Given the description of an element on the screen output the (x, y) to click on. 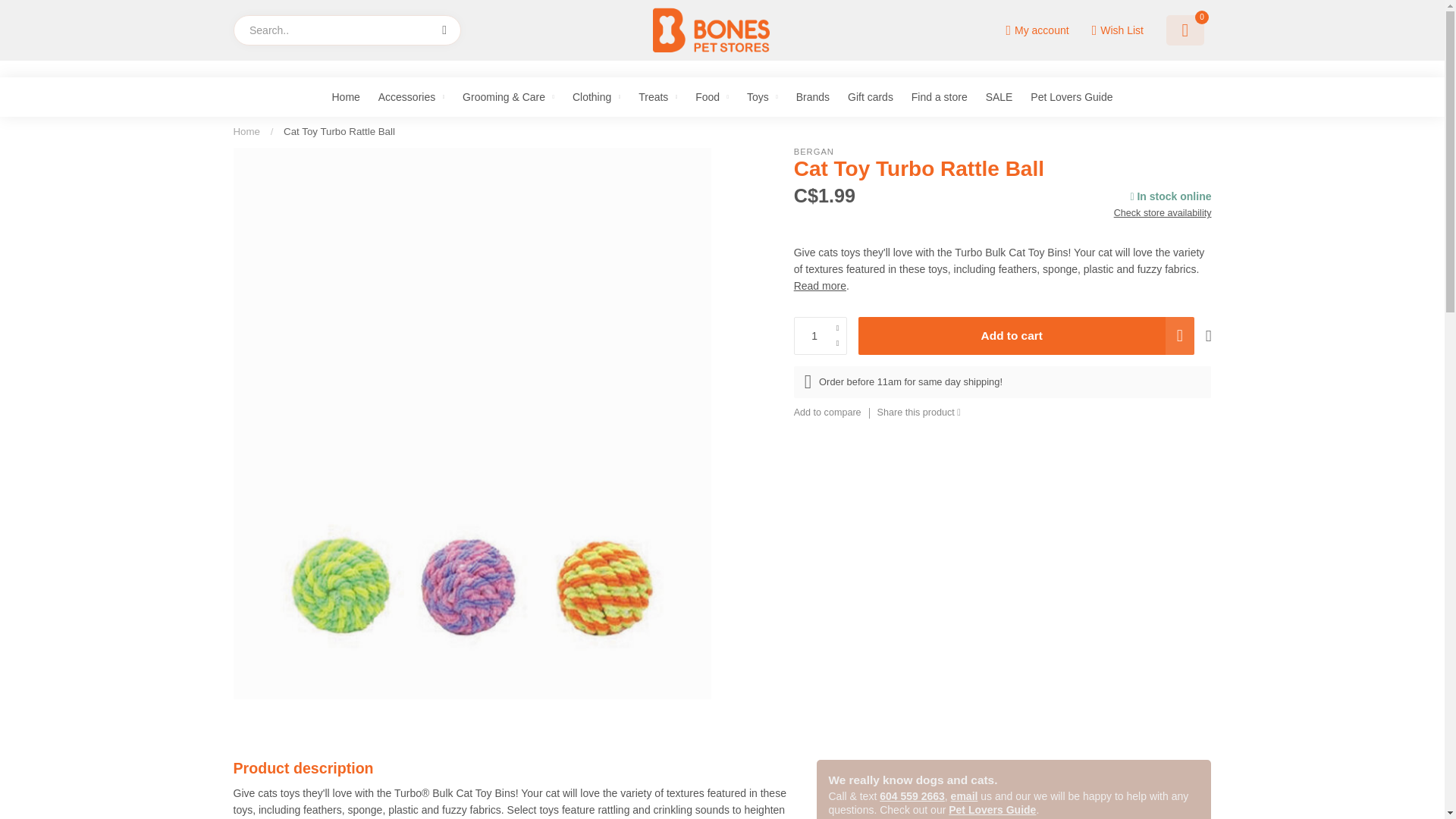
1 (820, 335)
Wish List (1116, 30)
My account (1037, 30)
0 (1185, 30)
Home (246, 131)
1 (1060, 218)
Wish List (1116, 30)
Accessories (411, 96)
